Given the description of an element on the screen output the (x, y) to click on. 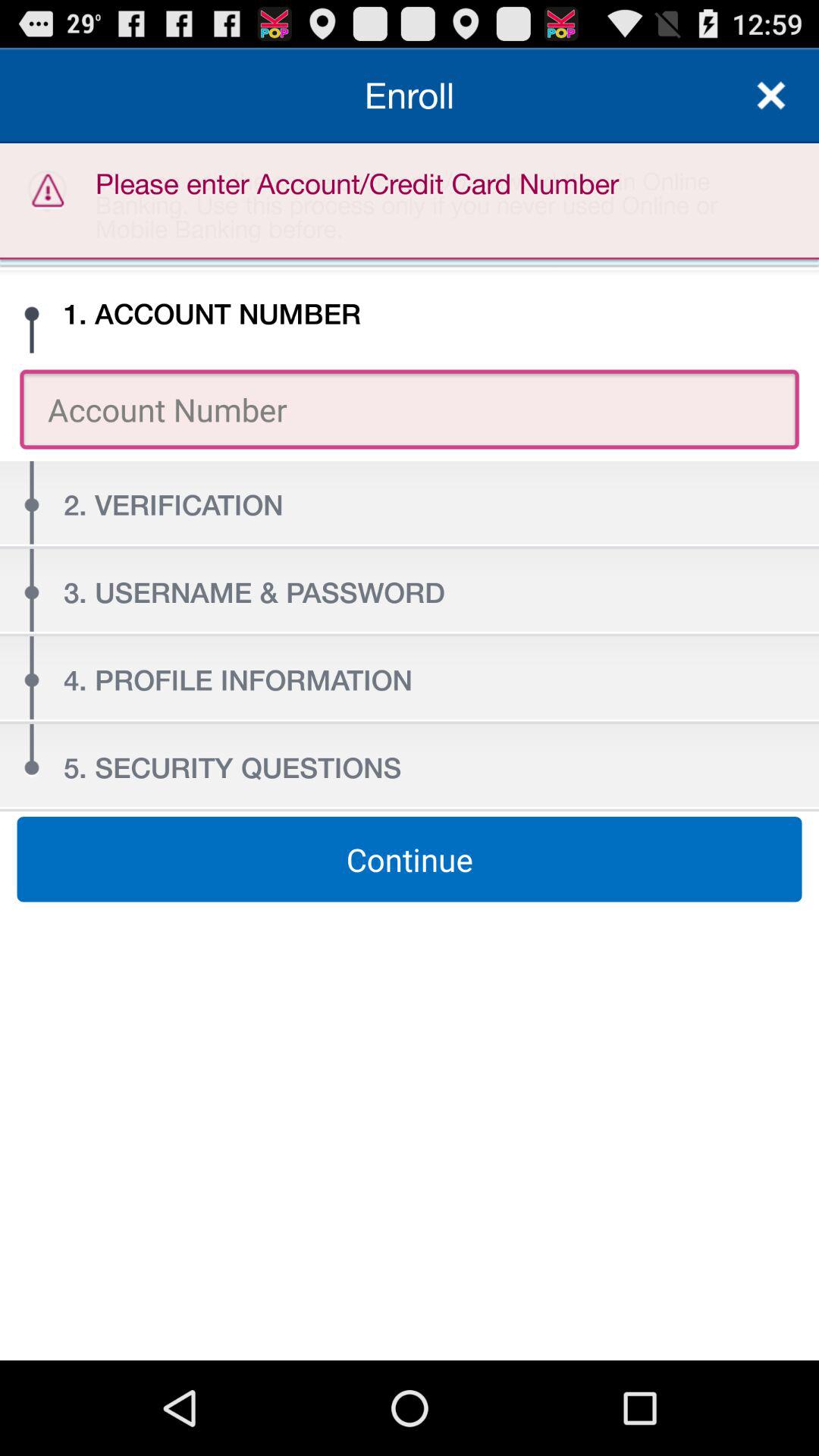
jump to continue (409, 859)
